Given the description of an element on the screen output the (x, y) to click on. 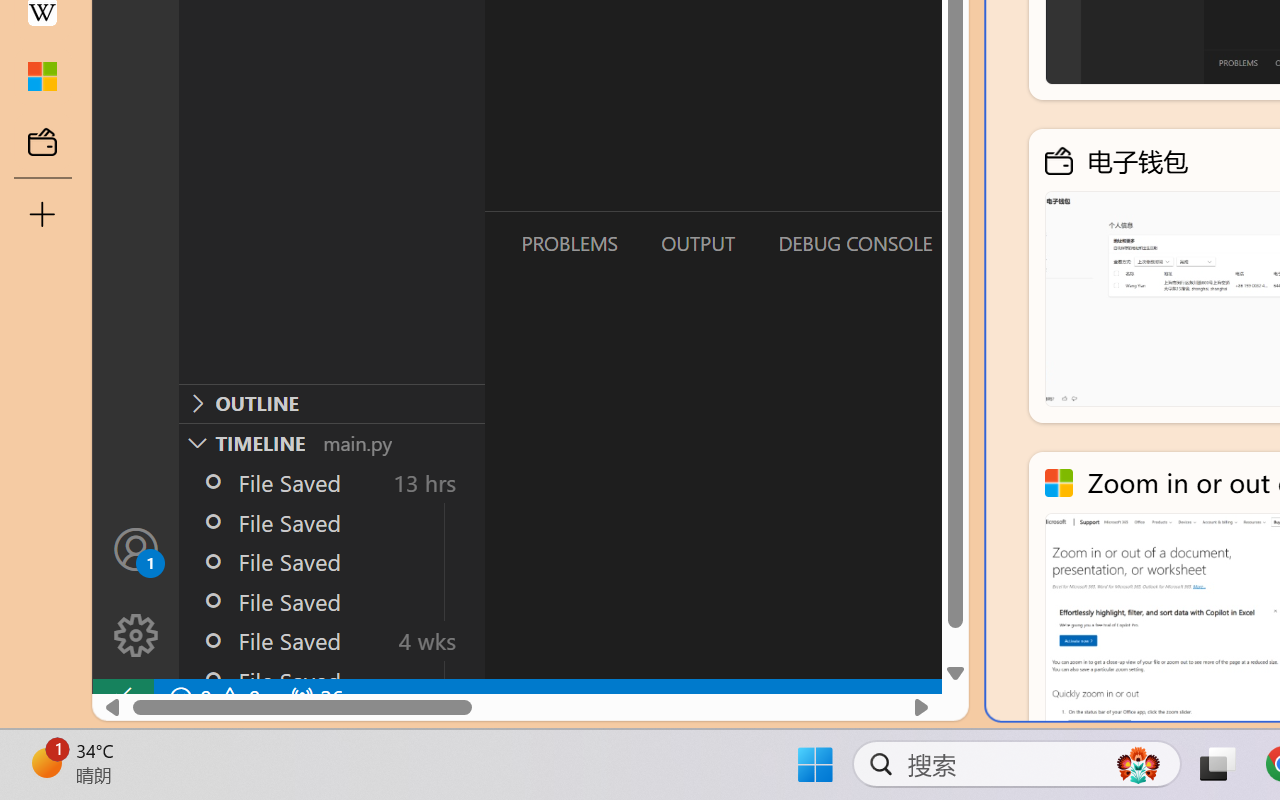
remote (122, 698)
Problems (Ctrl+Shift+M) (567, 243)
Timeline Section (331, 442)
Debug Console (Ctrl+Shift+Y) (854, 243)
